Given the description of an element on the screen output the (x, y) to click on. 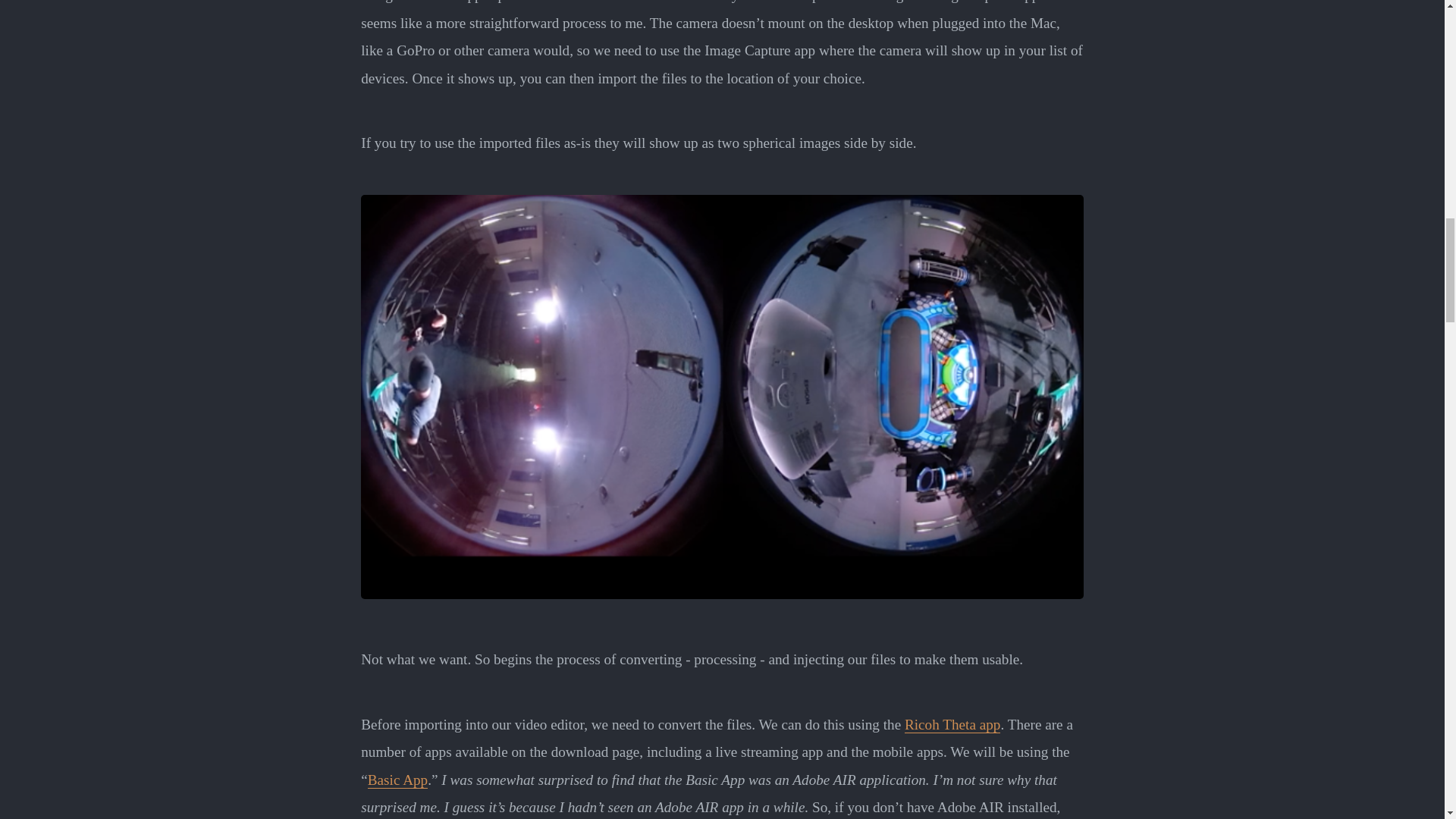
Ricoh Theta app (952, 724)
Basic App (398, 780)
